Given the description of an element on the screen output the (x, y) to click on. 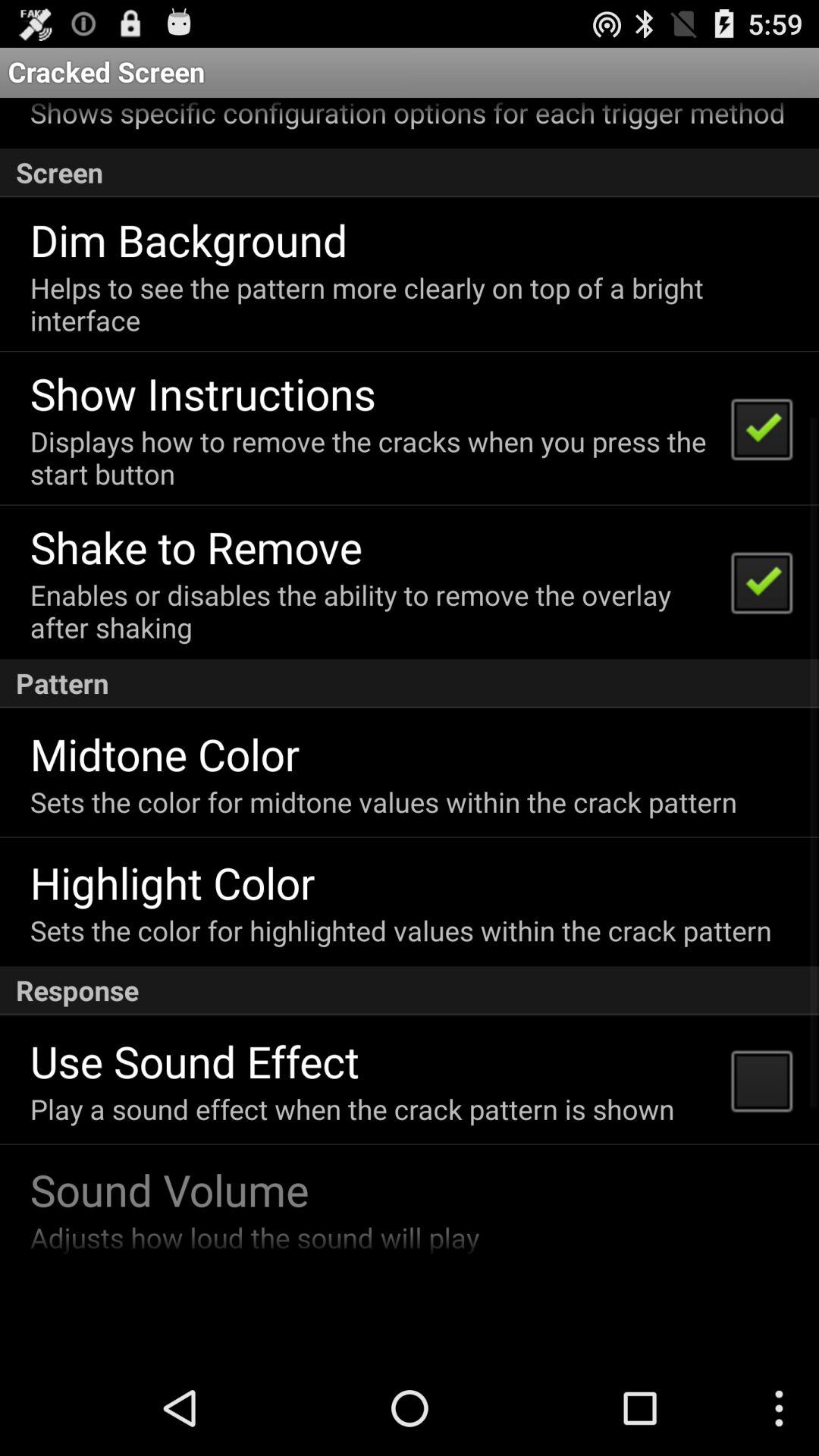
swipe until show instructions icon (202, 393)
